Given the description of an element on the screen output the (x, y) to click on. 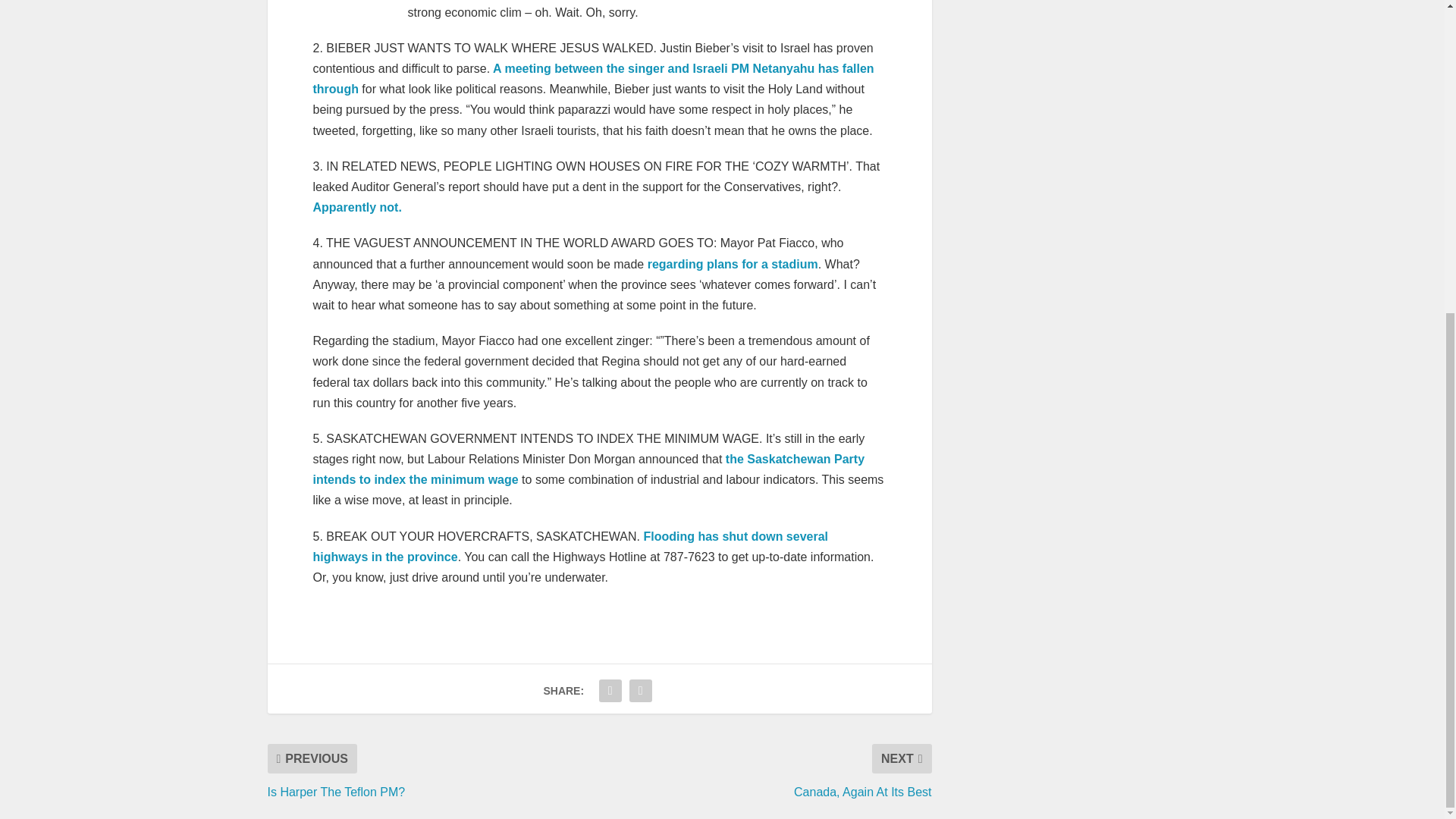
Apparently not. (357, 206)
the Saskatchewan Party intends to index the minimum wage (588, 469)
Share "Six In The Morning" via Twitter (641, 690)
6-in-the-morning3 (360, 6)
regarding plans for a stadium (732, 264)
Flooding has shut down several highways in the province (570, 546)
Share "Six In The Morning" via Facebook (610, 690)
